Given the description of an element on the screen output the (x, y) to click on. 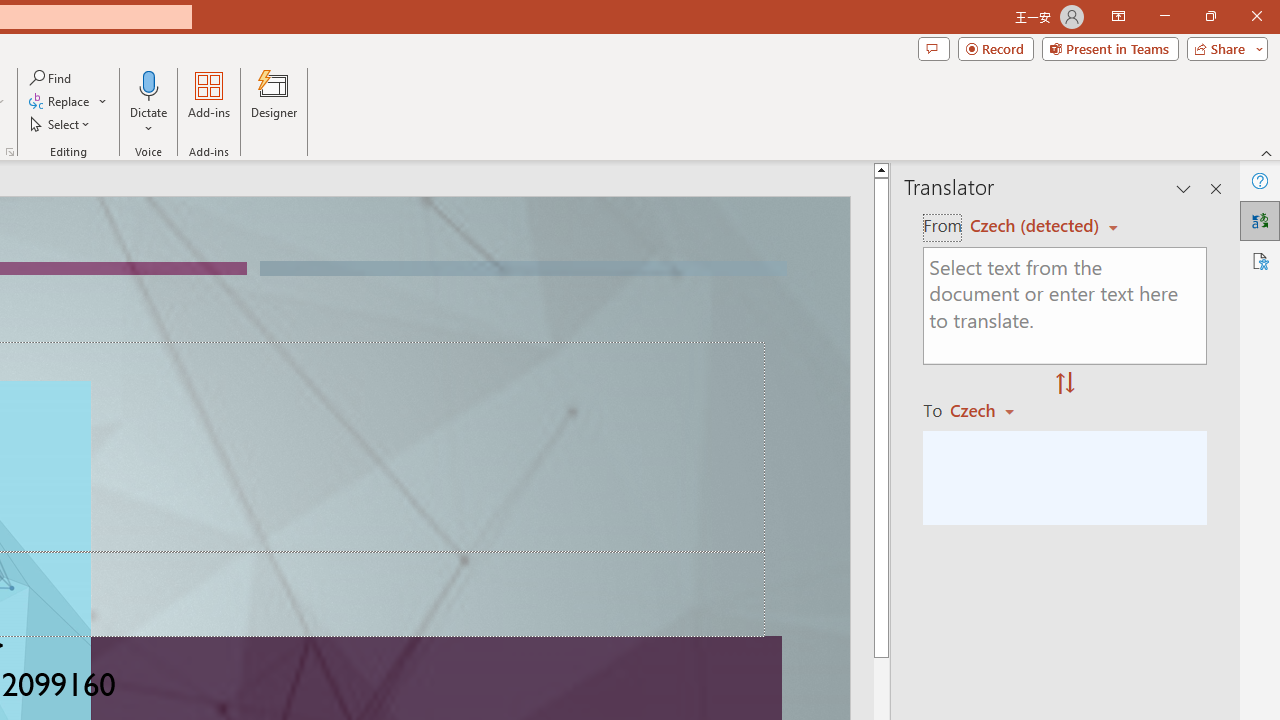
Format Object... (9, 151)
Dictate (149, 102)
